Given the description of an element on the screen output the (x, y) to click on. 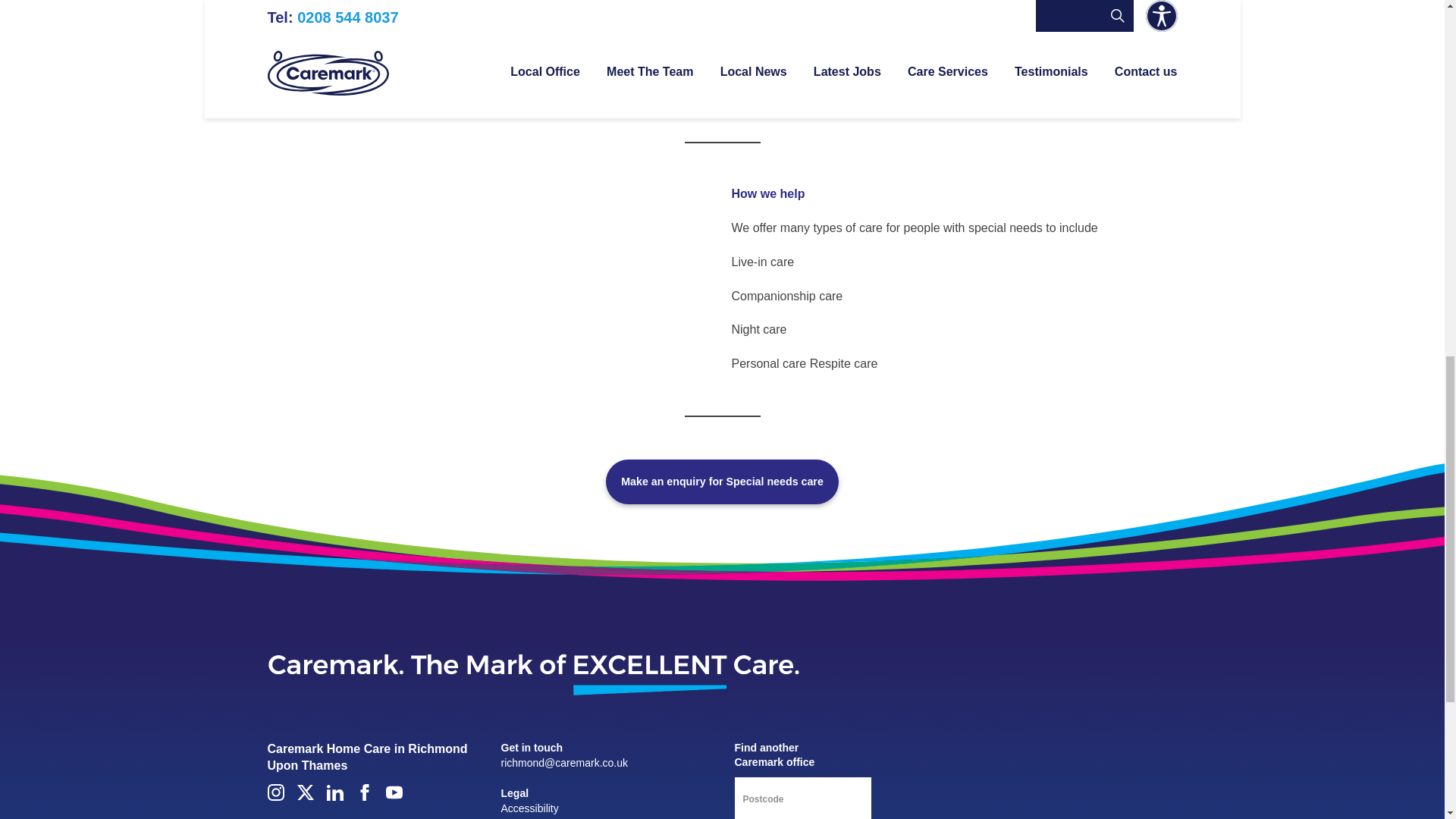
Twitter-X (305, 791)
Facebook (364, 791)
Make an enquiry for Special needs care (721, 481)
LinkedIn (334, 791)
Privacy Policy (533, 818)
YouTube (393, 791)
Instagram (274, 791)
Accessibility (528, 808)
